Given the description of an element on the screen output the (x, y) to click on. 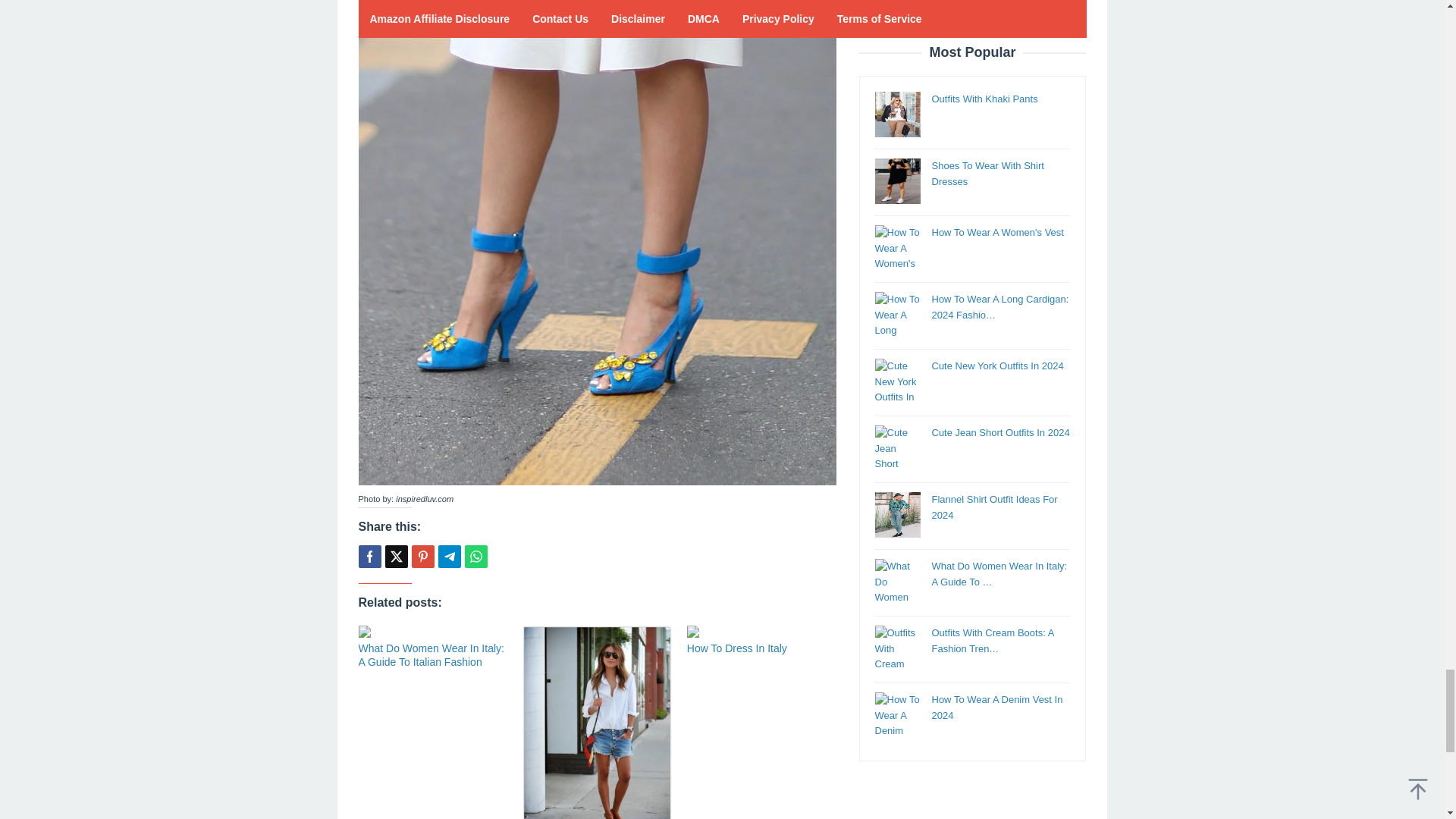
What Do Women Wear In Italy: A Guide To Italian Fashion (430, 655)
Permalink to: How To Dress In Italy (761, 631)
How To Dress In Italy (737, 648)
Permalink to: How To Dress In Italy (737, 648)
Tweet this (396, 556)
Whatsapp (475, 556)
Telegram Share (449, 556)
Pin this (421, 556)
